Given the description of an element on the screen output the (x, y) to click on. 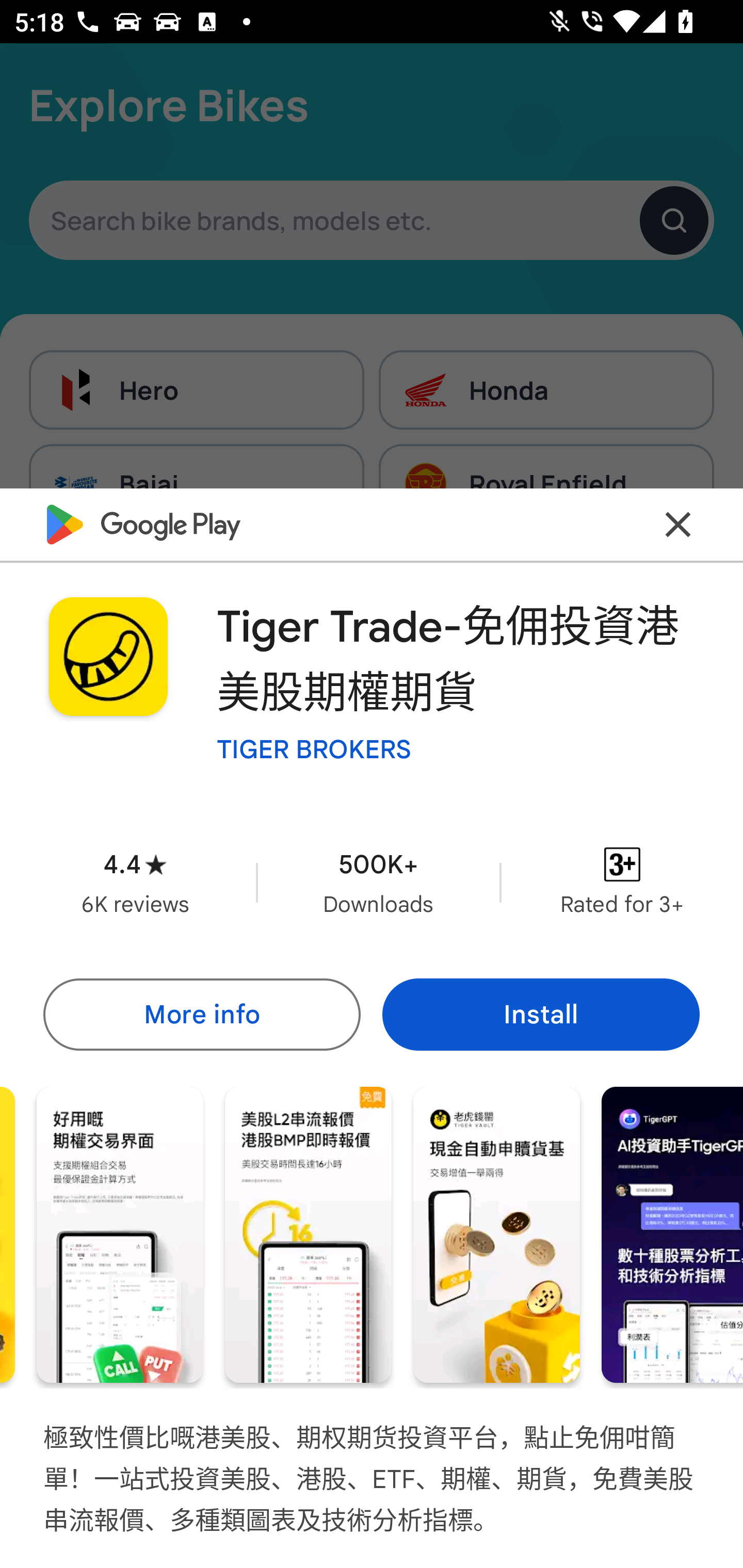
Close (677, 525)
TIGER BROKERS (313, 748)
More info (201, 1014)
Install (540, 1014)
Screenshot "4" of "8" (119, 1234)
Screenshot "5" of "8" (308, 1234)
Screenshot "6" of "8" (496, 1234)
Screenshot "7" of "8" (672, 1234)
